Given the description of an element on the screen output the (x, y) to click on. 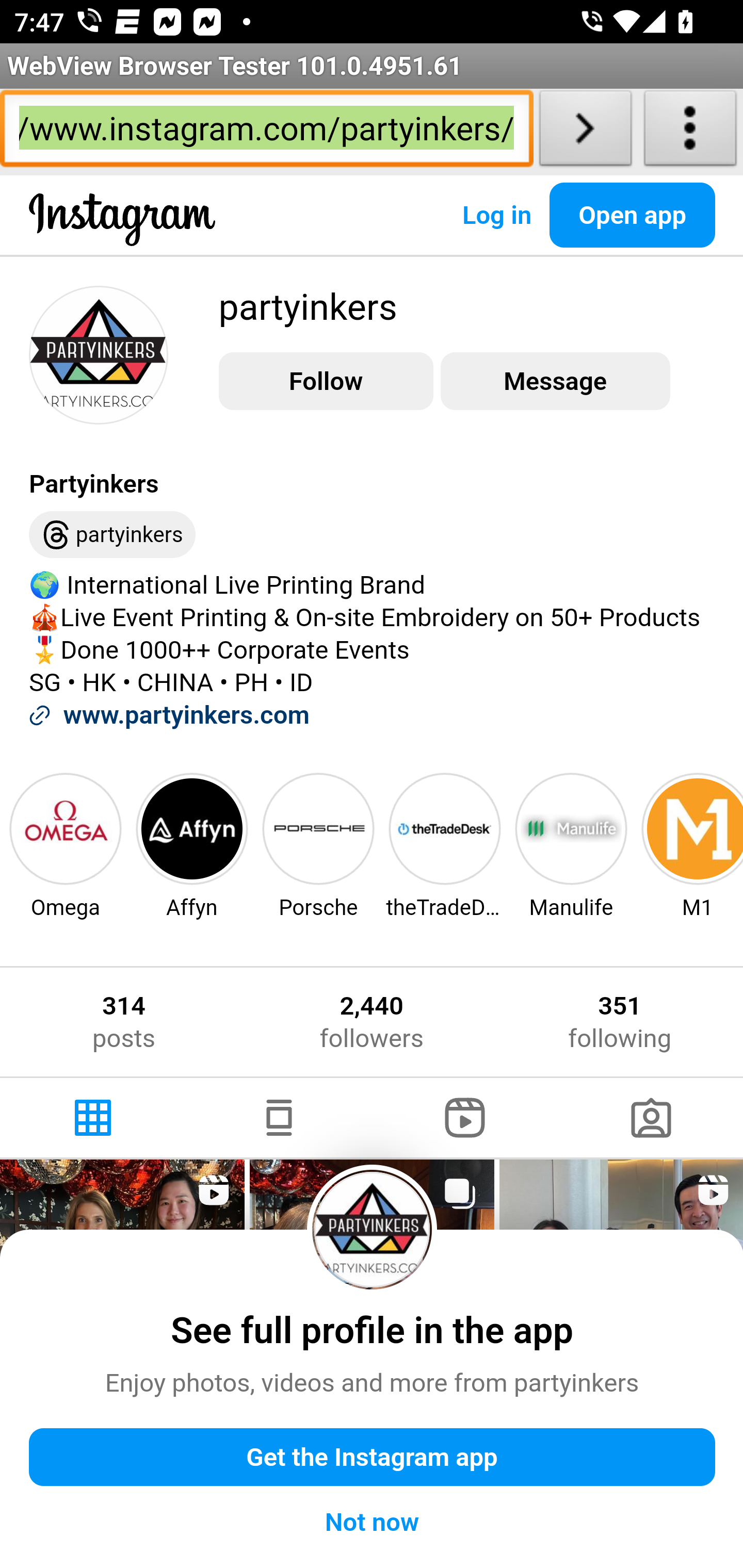
https://www.instagram.com/partyinkers/ (266, 132)
Load URL (585, 132)
About WebView (690, 132)
Log in (495, 214)
Open app (632, 214)
Instagram Instagram Instagram Instagram (122, 234)
partyinkers's profile picture (98, 353)
Follow (325, 381)
Message (554, 381)
Threads partyinkers Threads partyinkers (112, 535)
www.partyinkers.com (185, 714)
M1's profile picture M1 M1's profile picture M1 (690, 844)
314 posts (124, 1021)
2,440 followers (371, 1021)
351 following (619, 1021)
Posts (93, 1117)
Feed (278, 1117)
Reels (465, 1117)
Tagged (649, 1117)
partyinkers's profile picture (372, 1229)
Get the Instagram app (372, 1458)
Not now (372, 1521)
